Given the description of an element on the screen output the (x, y) to click on. 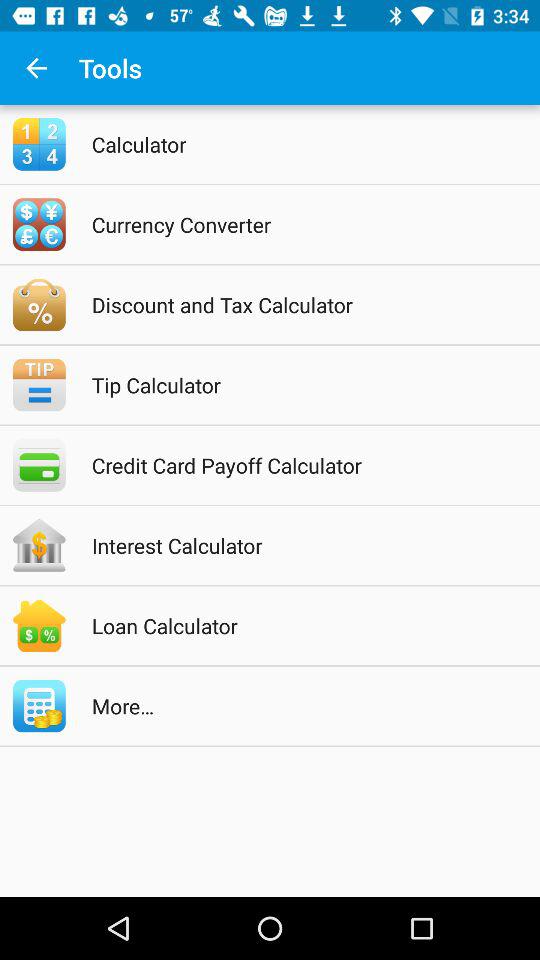
turn off tip calculator icon (295, 384)
